Given the description of an element on the screen output the (x, y) to click on. 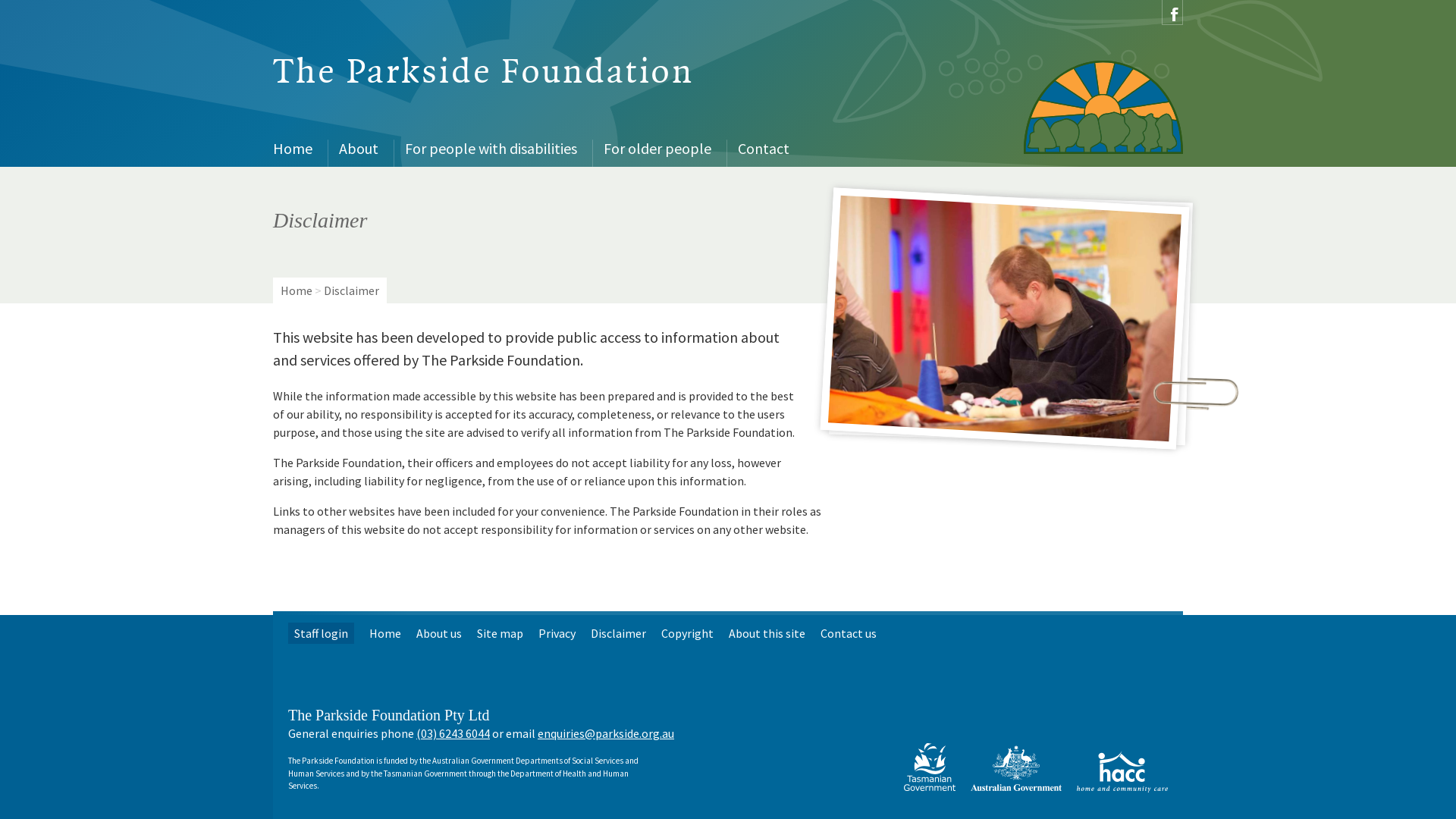
enquiries@parkside.org.au Element type: text (605, 732)
Site map Element type: text (499, 632)
Disclaimer Element type: text (618, 632)
Contact us Element type: text (848, 632)
Home Element type: text (385, 632)
Contact Element type: text (765, 148)
Home Element type: text (294, 148)
Privacy Element type: text (556, 632)
Home Element type: text (296, 290)
For older people Element type: text (659, 148)
About this site Element type: text (766, 632)
About Element type: text (360, 148)
Staff login Element type: text (321, 632)
Copyright Element type: text (687, 632)
For people with disabilities Element type: text (492, 148)
(03) 6243 6044 Element type: text (452, 732)
About us Element type: text (438, 632)
The Parkside Foundation Element type: text (483, 72)
